Given the description of an element on the screen output the (x, y) to click on. 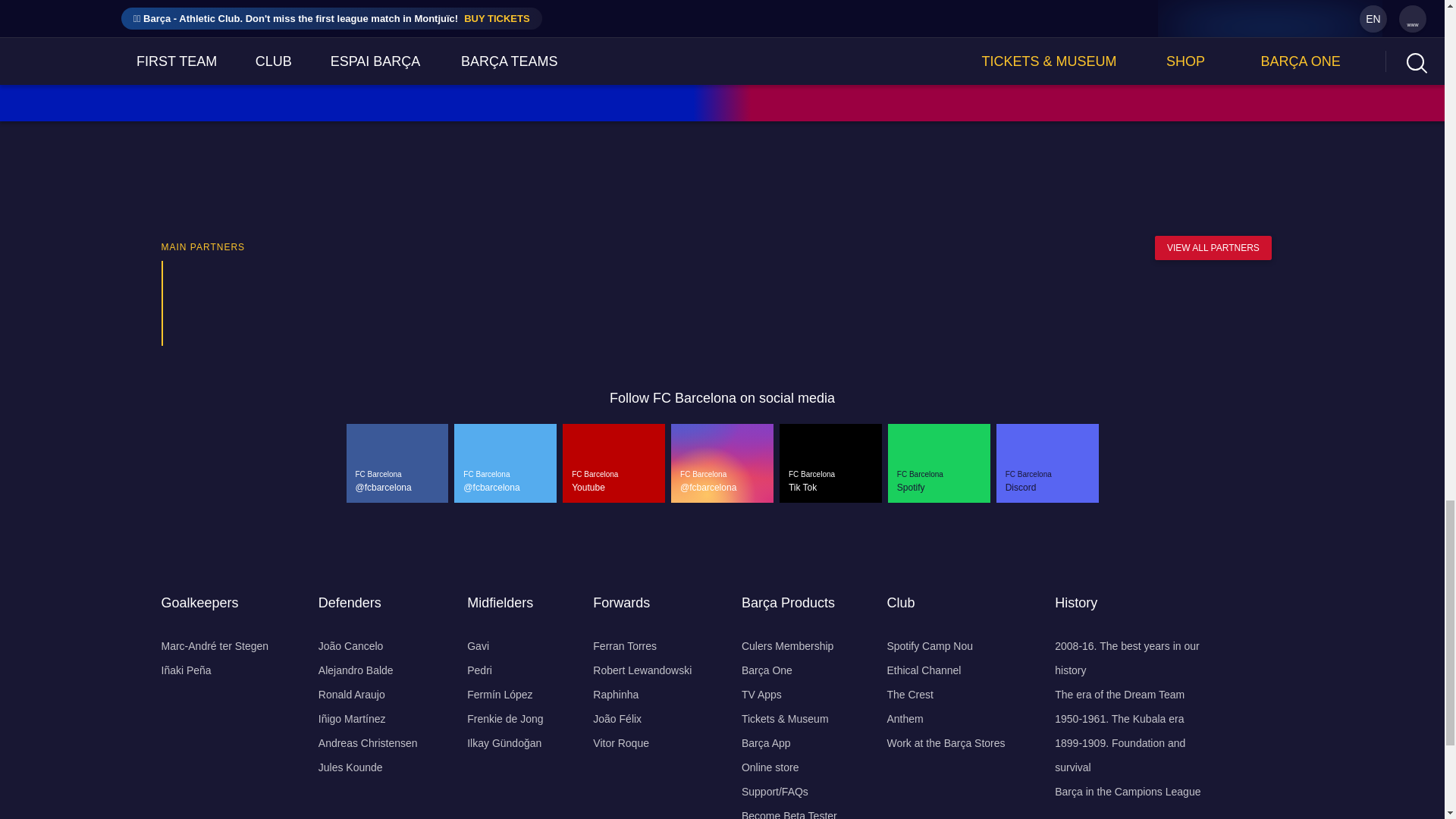
Go visit Nike (344, 302)
Go visit Spotify (705, 302)
Go visit Ambilight (1082, 302)
